Given the description of an element on the screen output the (x, y) to click on. 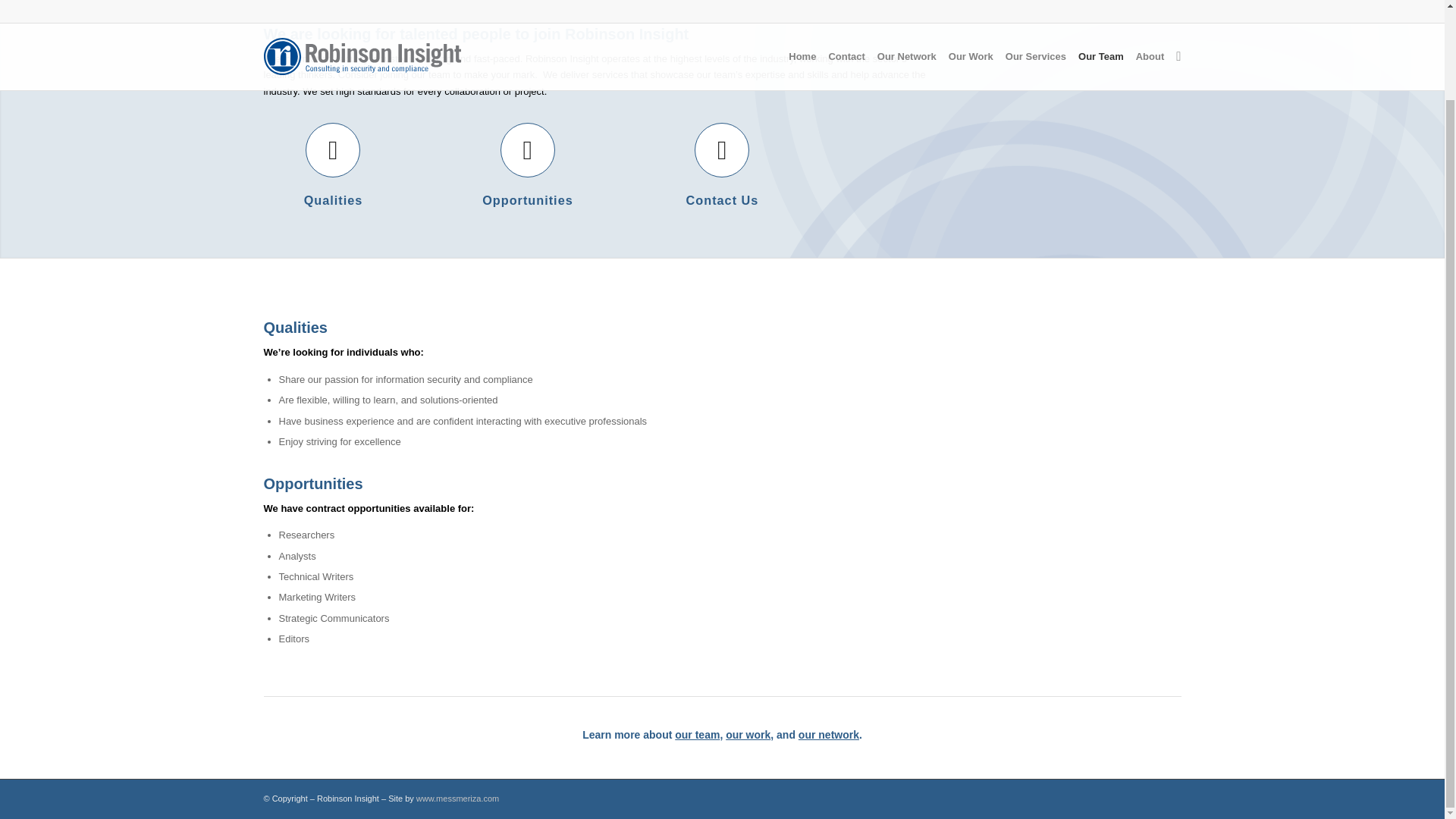
Qualities (333, 200)
Qualities (332, 149)
www.messmeriza.com (457, 798)
our network (828, 734)
Opportunities (527, 200)
Contact Us (721, 200)
Contact Us (721, 149)
Opportunities (527, 149)
our team (697, 734)
Qualities (333, 200)
Contact Us (721, 200)
our work (747, 734)
Opportunities (527, 200)
